Given the description of an element on the screen output the (x, y) to click on. 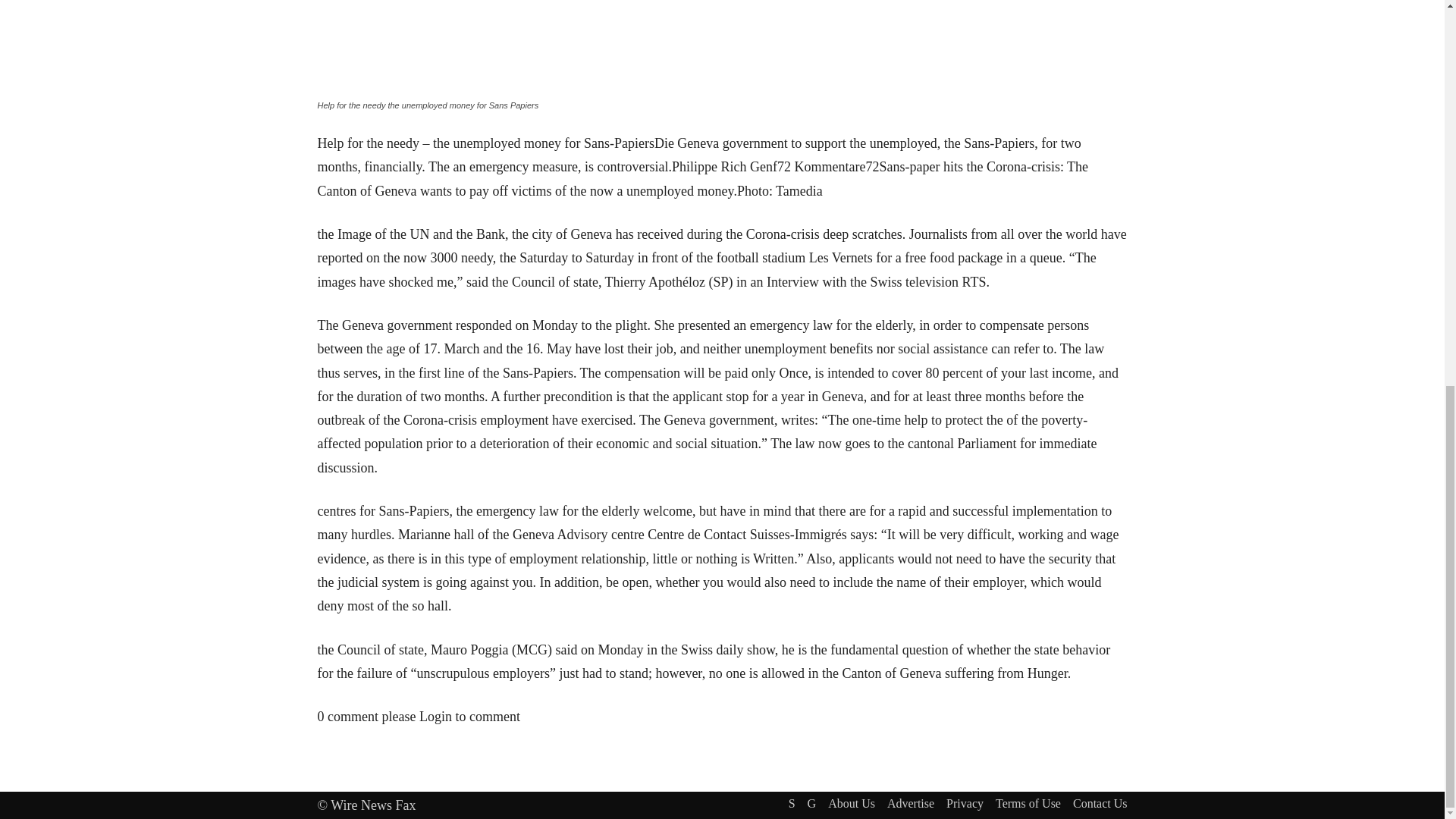
Privacy (965, 803)
Contact Us (1099, 803)
G (812, 803)
Advertise (910, 803)
Terms of Use (1028, 803)
About Us (851, 803)
S (791, 803)
